Given the description of an element on the screen output the (x, y) to click on. 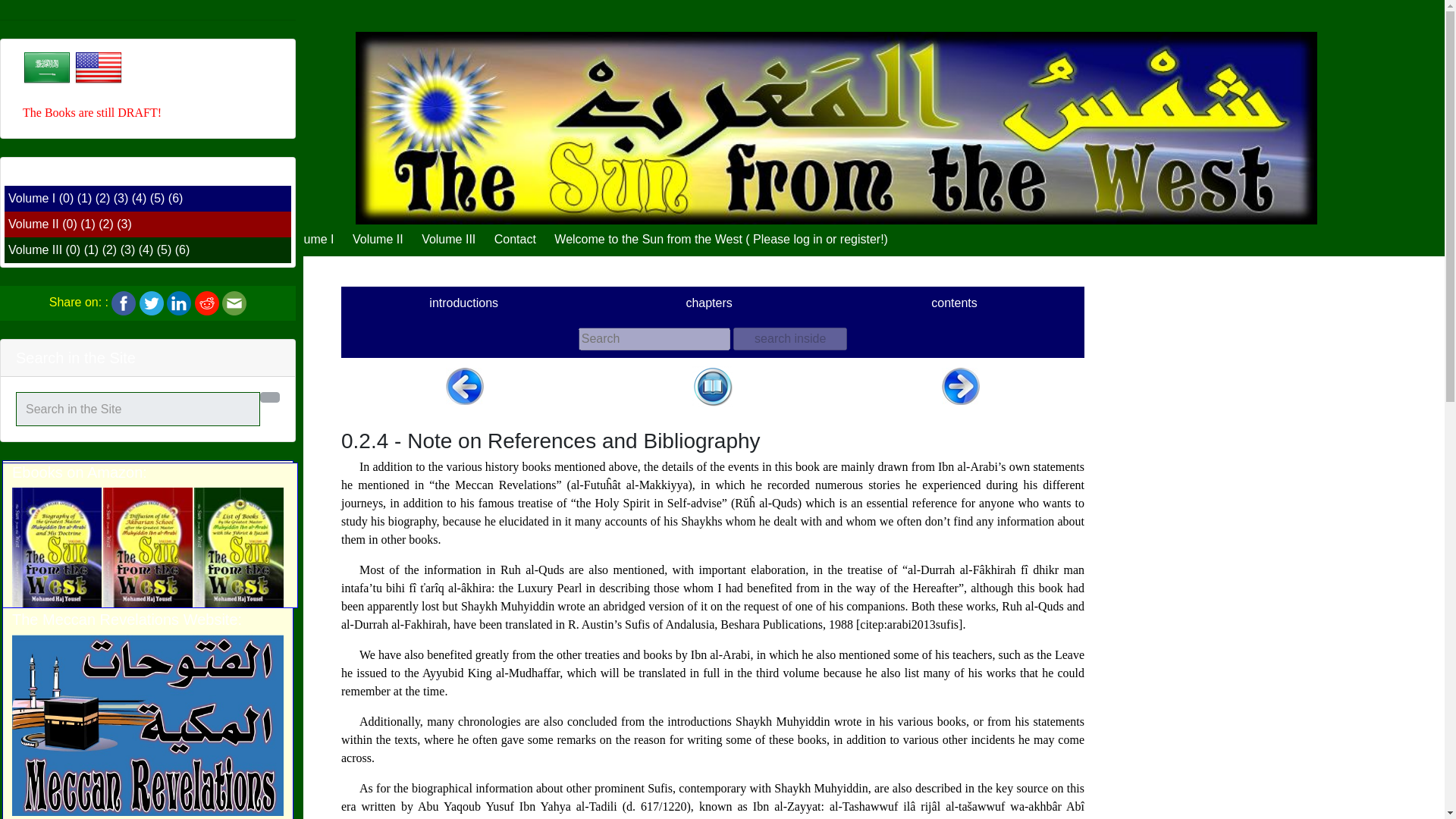
previous section (464, 385)
Starting Page (255, 238)
go back (712, 385)
Volume II (33, 223)
Volume I (309, 238)
next section (960, 385)
Volume I (31, 197)
